Given the description of an element on the screen output the (x, y) to click on. 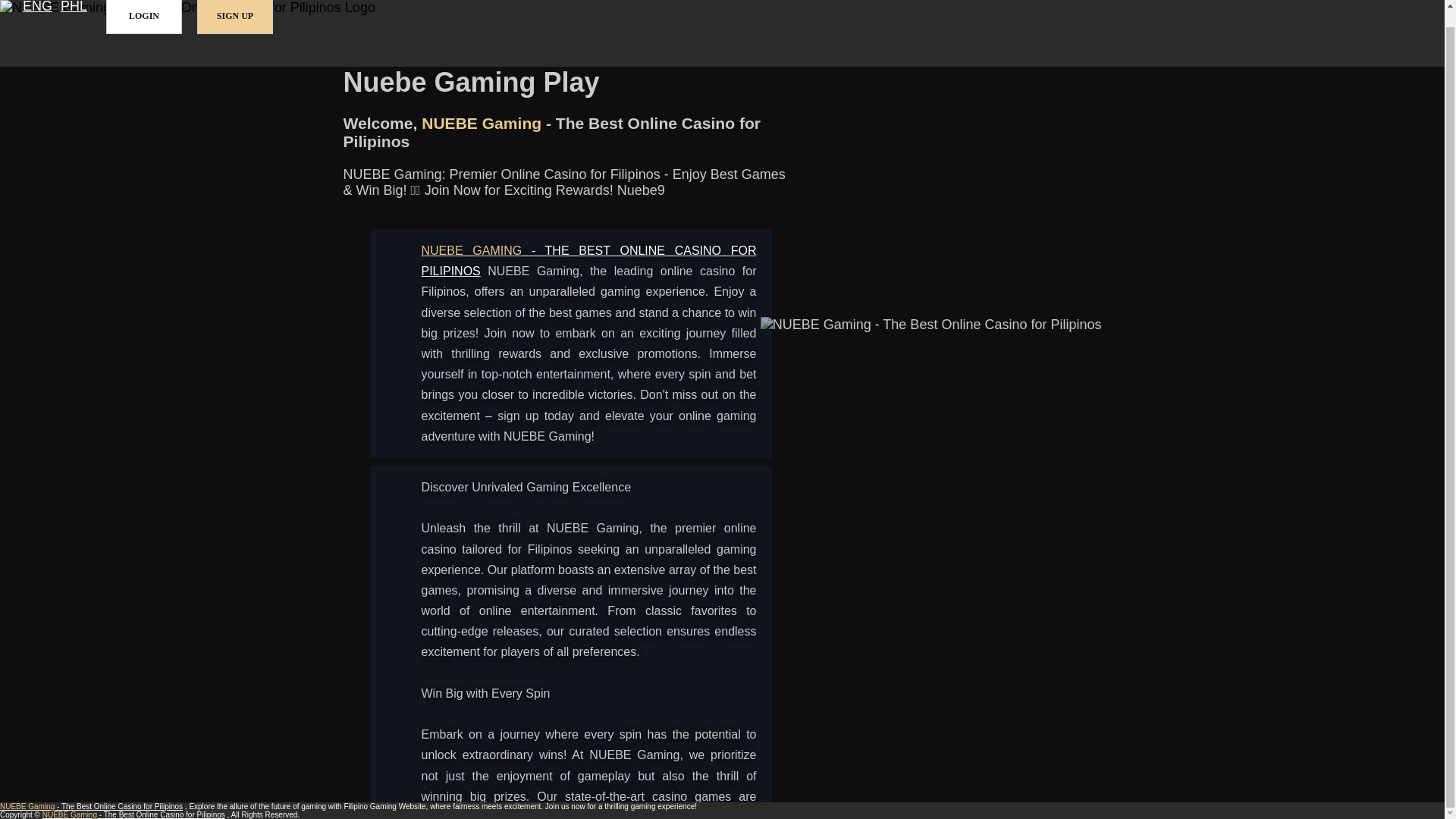
NUEBE GAMING - THE BEST ONLINE CASINO FOR PILIPINOS (589, 260)
NUEBE Gaming - The Best Online Casino for Pilipinos (91, 806)
Filipino (74, 7)
NUEBE Gaming - The Best Online Casino for Pilipinos (589, 260)
English (37, 7)
PHL (74, 7)
ENG (37, 7)
SIGN UP (234, 17)
LOGIN (144, 17)
